Given the description of an element on the screen output the (x, y) to click on. 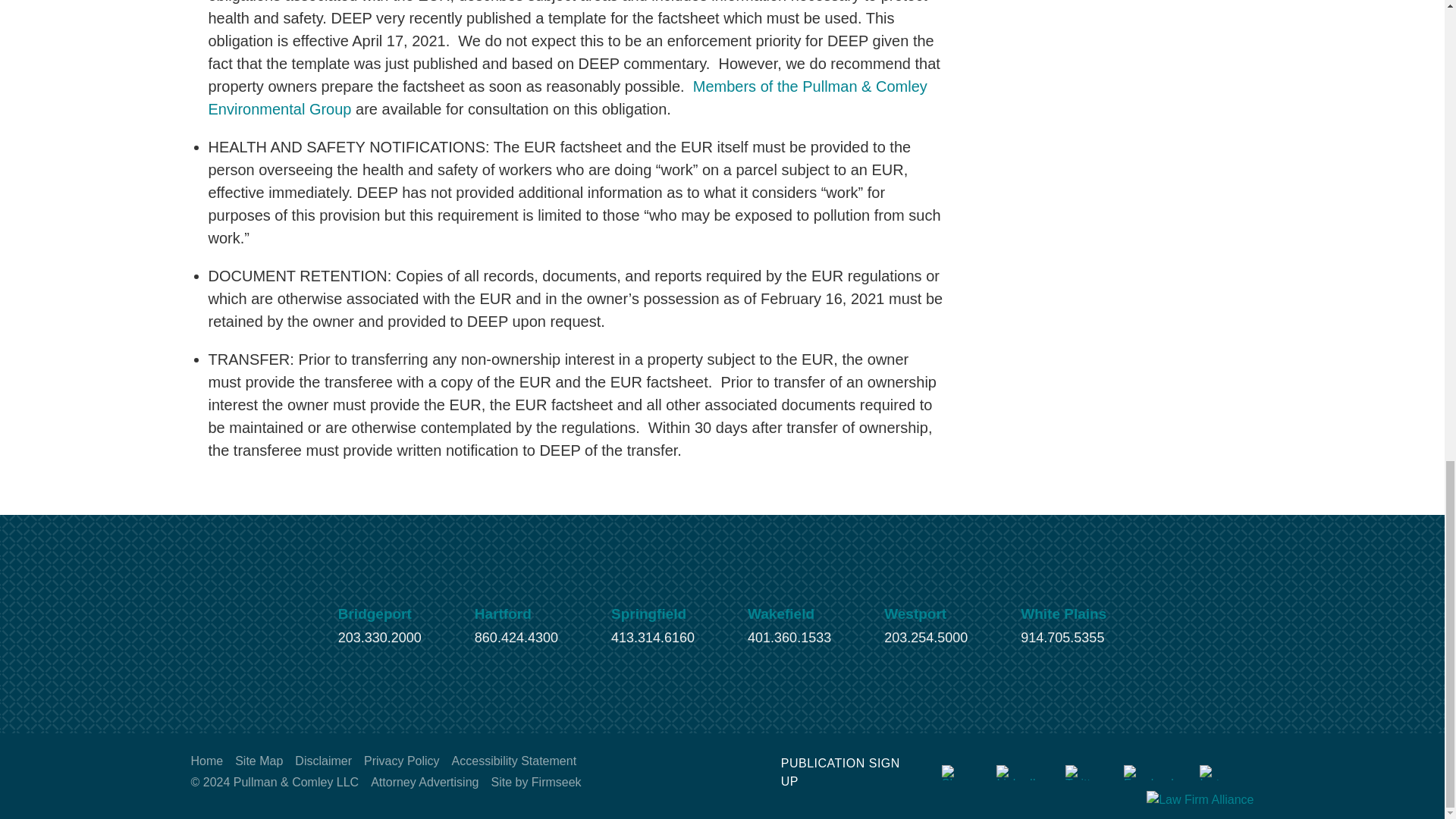
Share (958, 772)
